Given the description of an element on the screen output the (x, y) to click on. 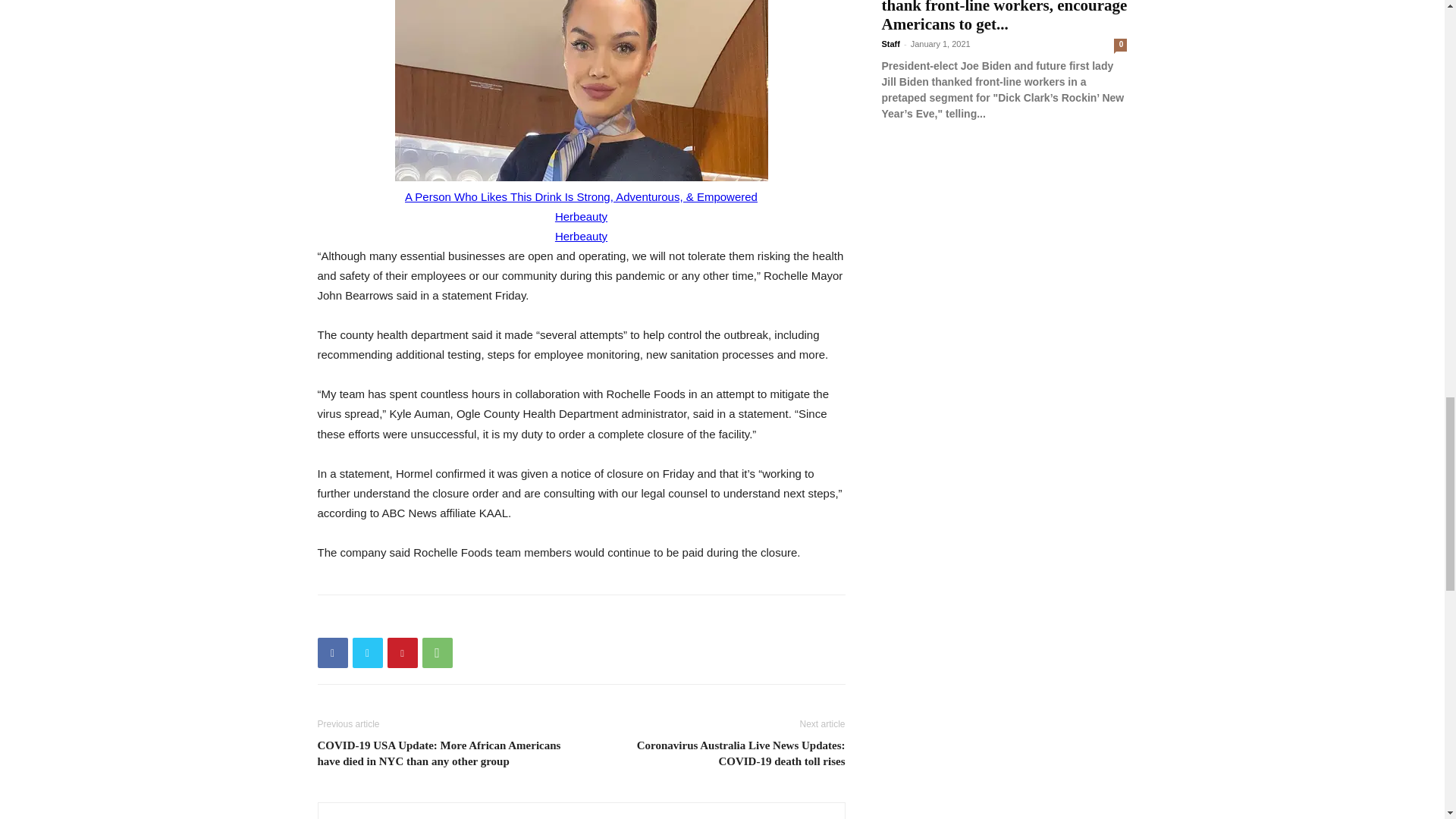
Pinterest (401, 653)
Facebook (332, 653)
bottomFacebookLike (430, 618)
Twitter (366, 653)
WhatsApp (436, 653)
